Given the description of an element on the screen output the (x, y) to click on. 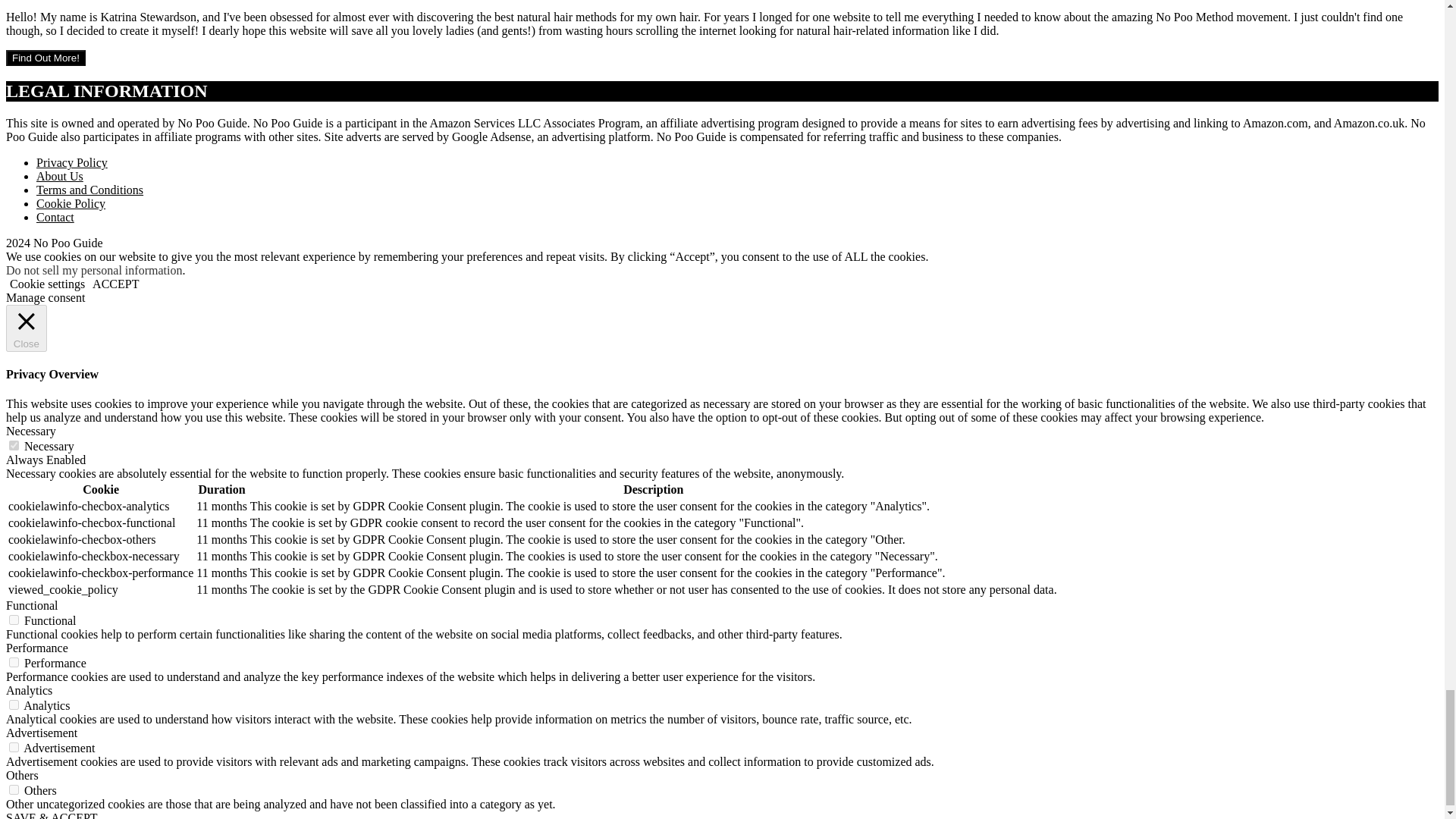
Cookie Policy (70, 203)
on (13, 789)
ACCEPT (115, 283)
on (13, 619)
on (13, 445)
on (13, 747)
About Us (59, 175)
on (13, 705)
on (13, 662)
Do not sell my personal information (93, 269)
